Given the description of an element on the screen output the (x, y) to click on. 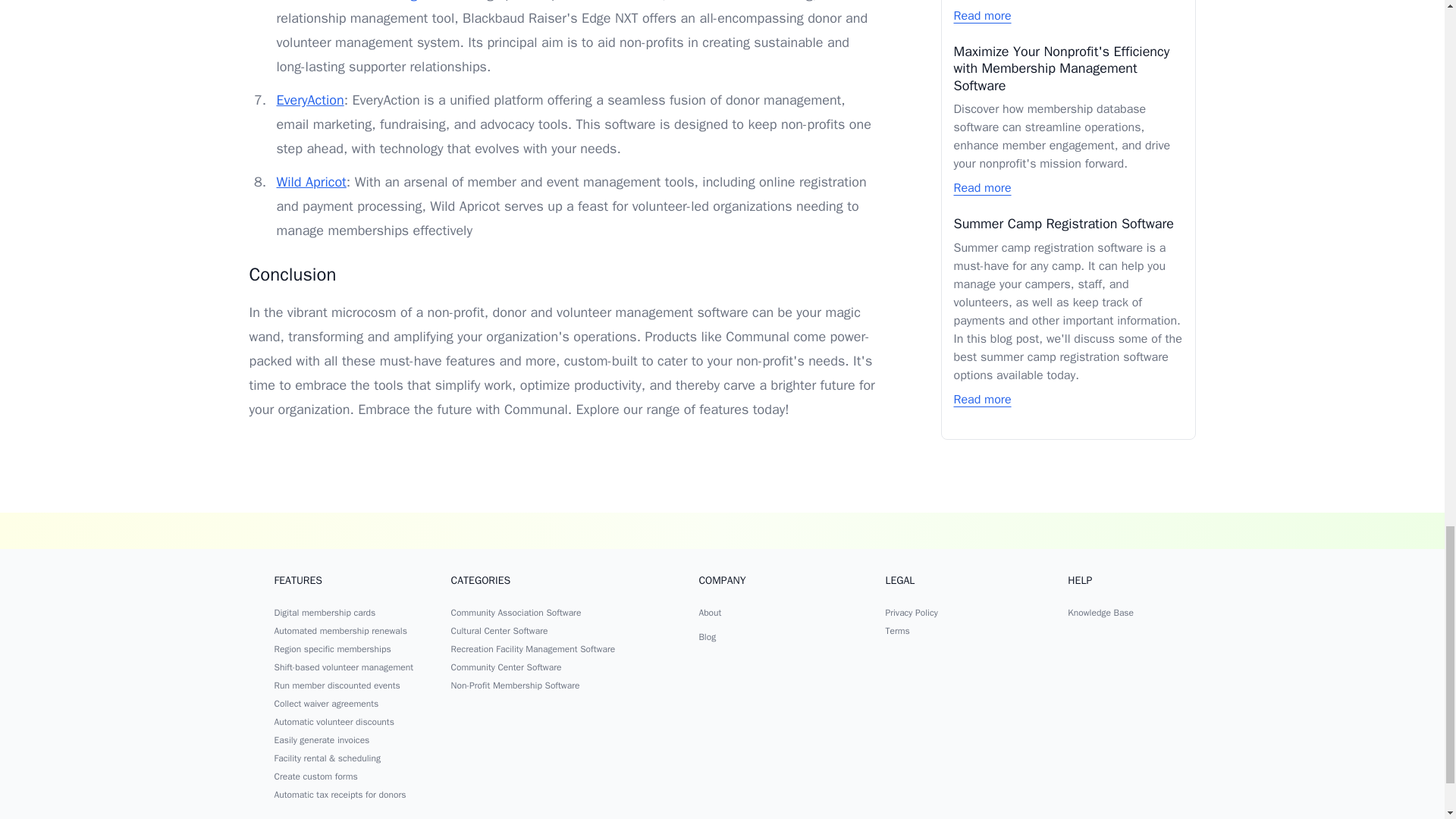
Recreation Facility Management Software (533, 648)
Knowledge Base (1100, 612)
Digital membership cards (325, 612)
About (709, 612)
Automatic volunteer discounts (334, 721)
Cultural Center Software (499, 630)
Automatic tax receipts for donors (340, 794)
Easily generate invoices (322, 739)
Non-Profit Membership Software (515, 685)
Create custom forms (316, 776)
Collect waiver agreements (326, 703)
EveryAction (309, 99)
Wild Apricot (311, 181)
Automated membership renewals (341, 630)
Community Association Software (515, 612)
